Given the description of an element on the screen output the (x, y) to click on. 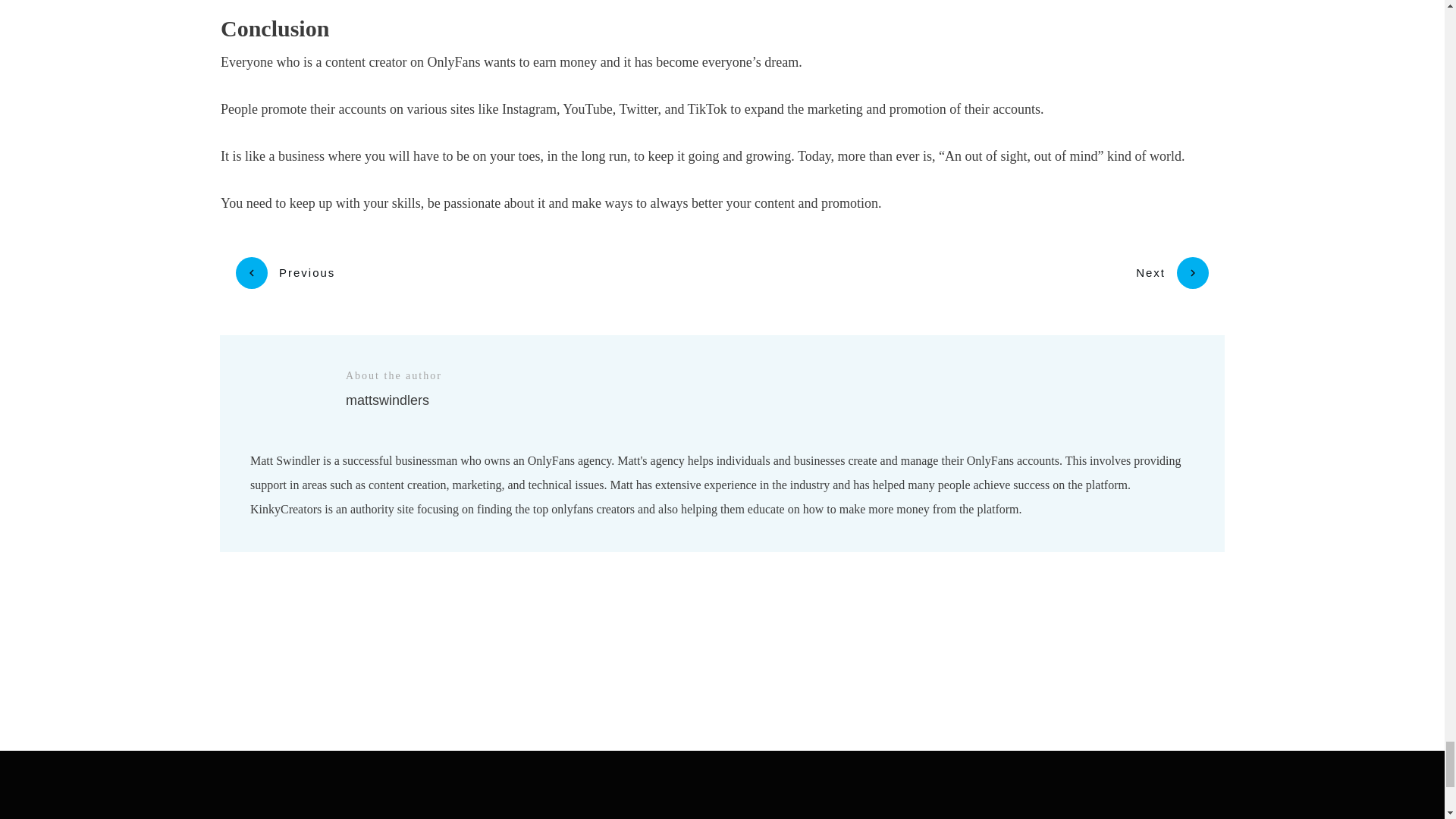
Previous (284, 273)
Next (1171, 273)
